Given the description of an element on the screen output the (x, y) to click on. 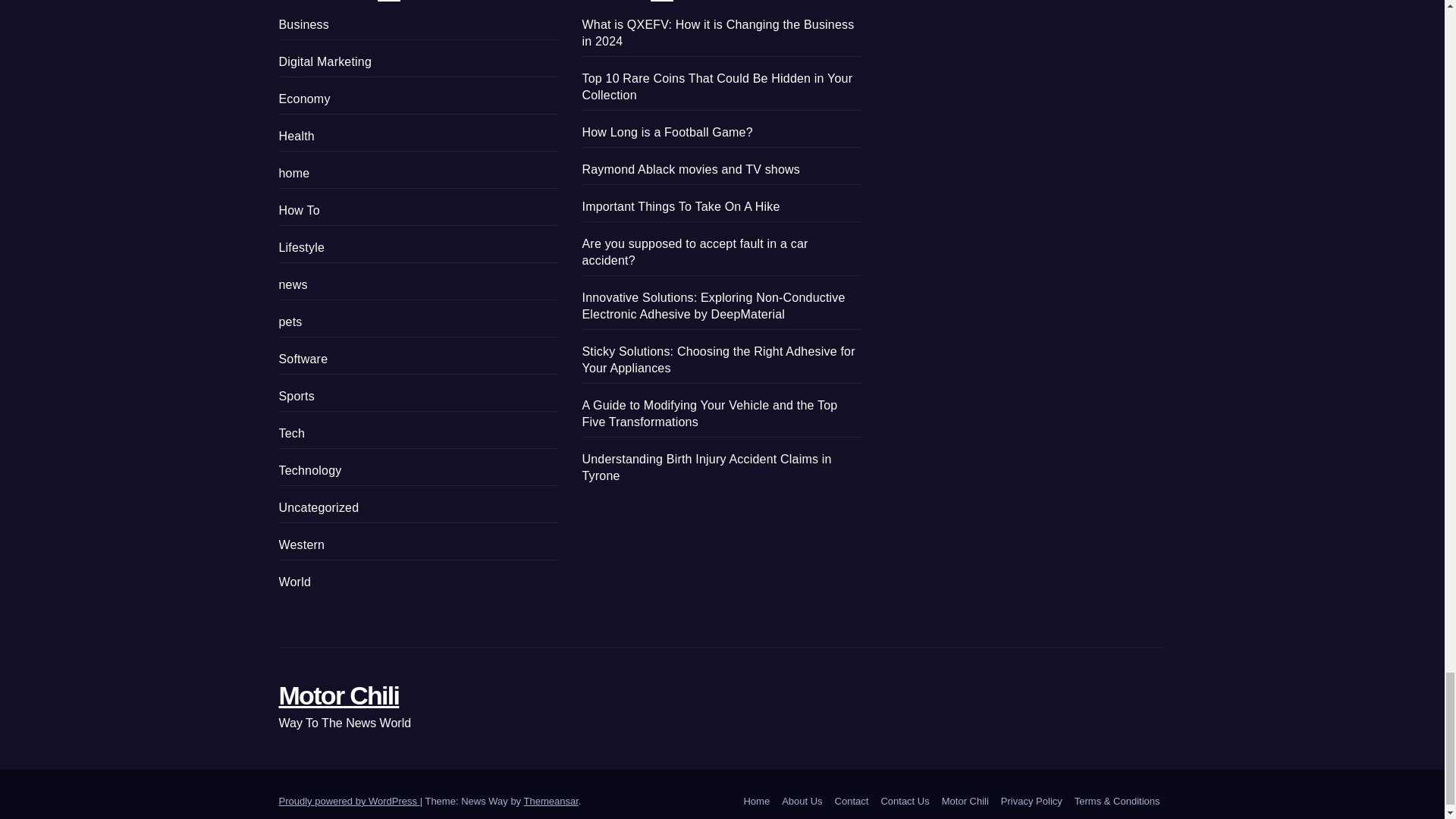
Home (756, 801)
